Given the description of an element on the screen output the (x, y) to click on. 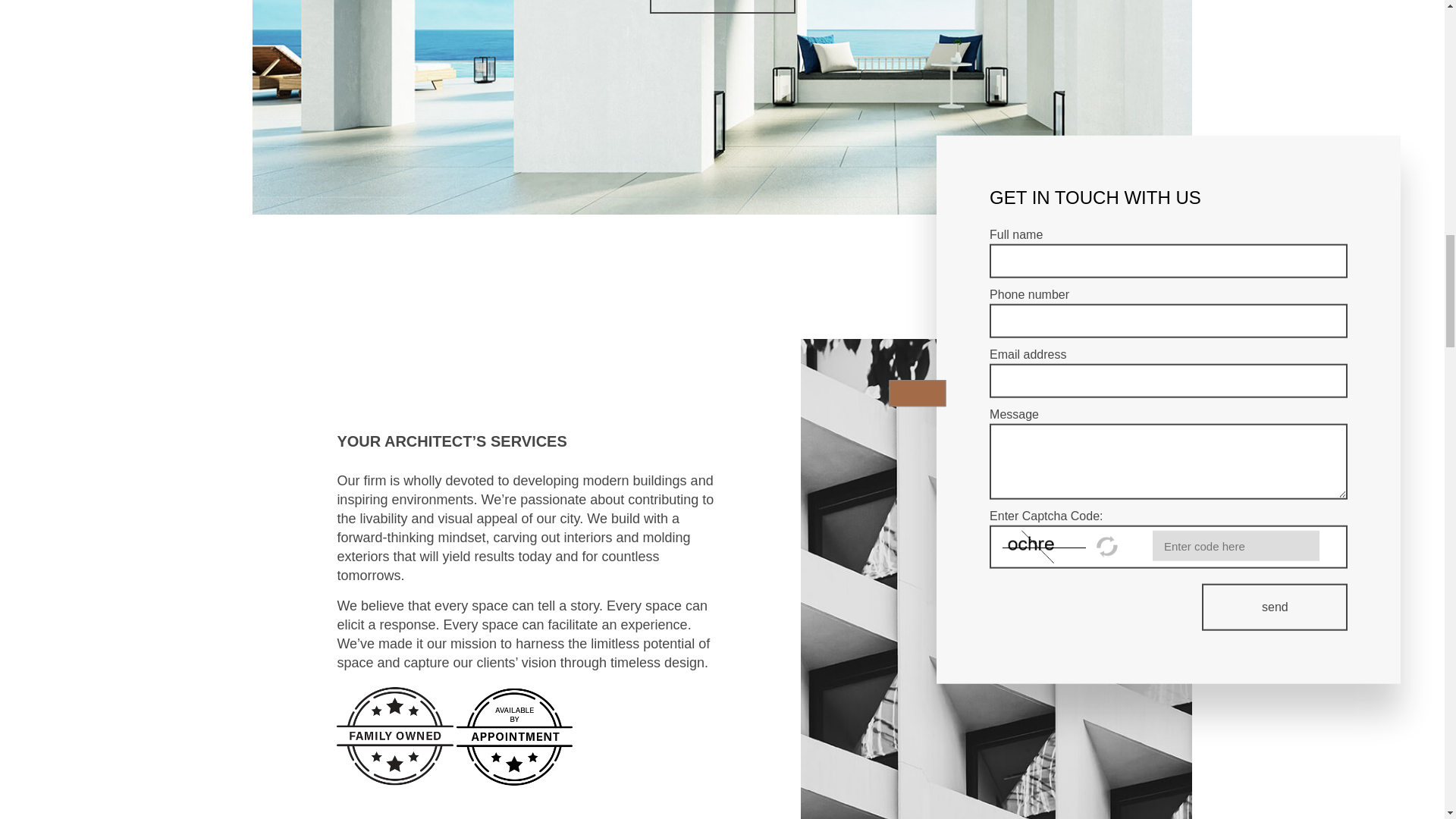
View Projects (721, 6)
